Given the description of an element on the screen output the (x, y) to click on. 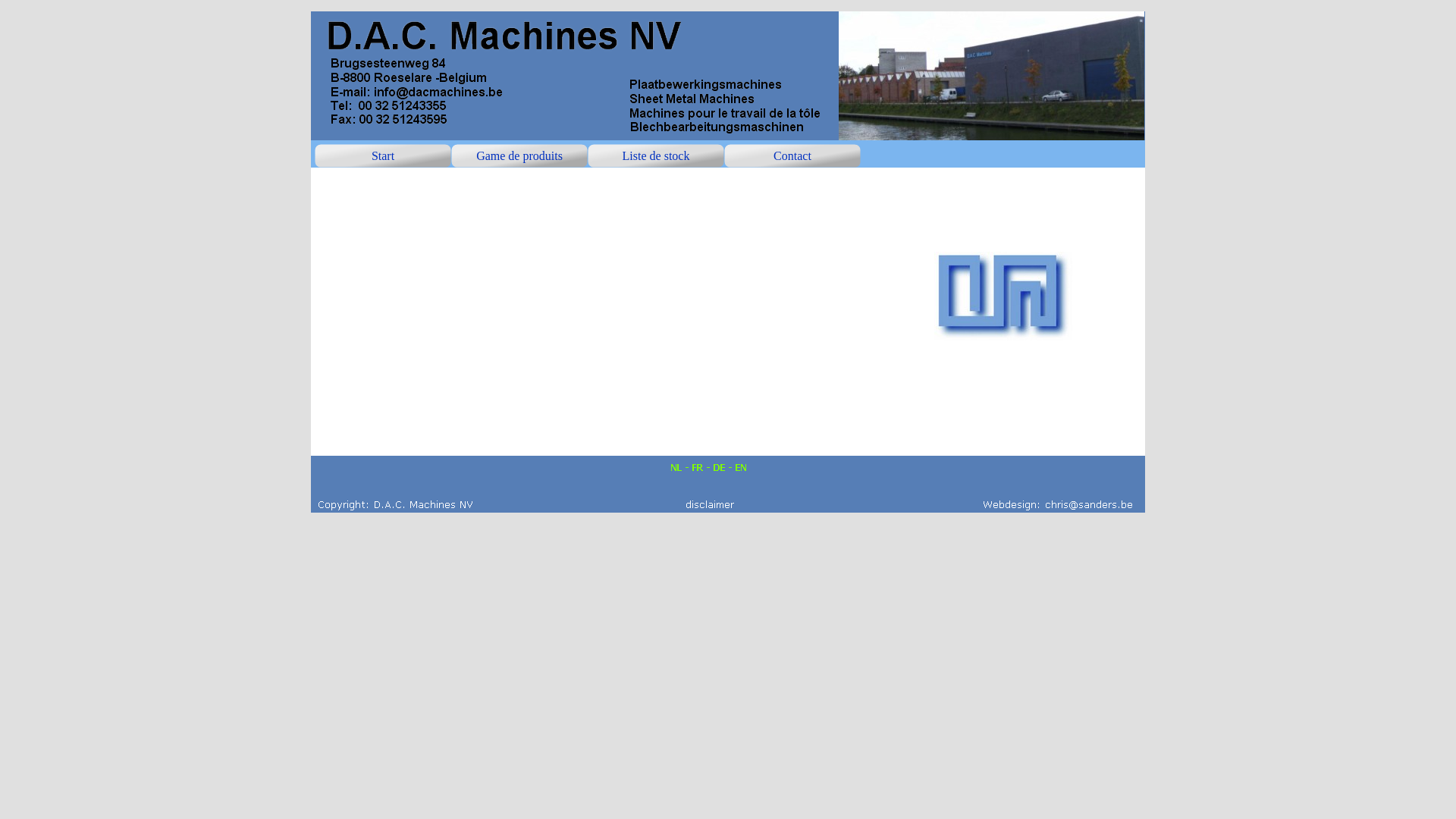
Start Element type: text (382, 155)
Contact Element type: text (792, 155)
Liste de stock Element type: text (655, 155)
Game de produits Element type: text (519, 155)
